Given the description of an element on the screen output the (x, y) to click on. 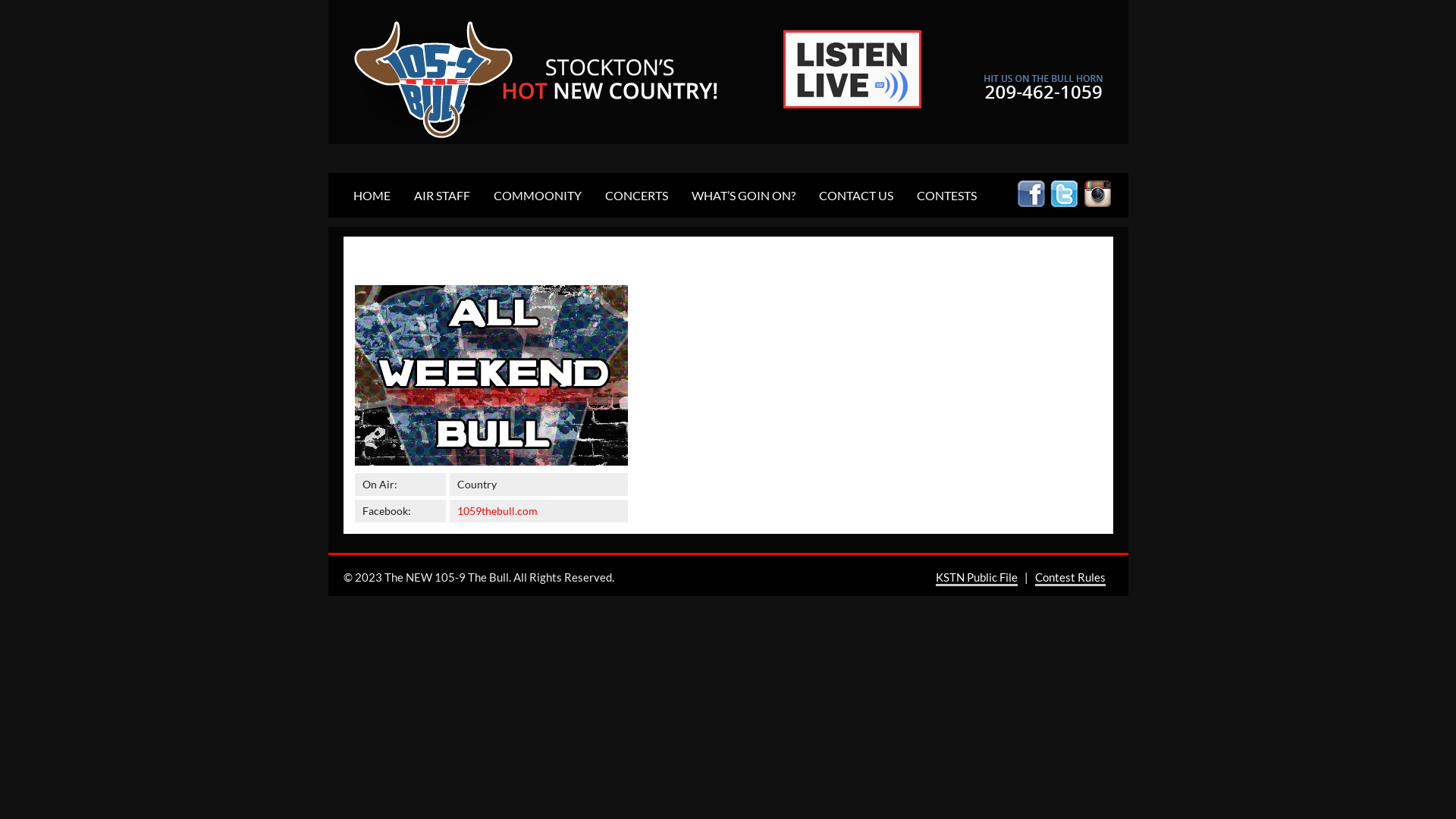
HOME Element type: text (370, 195)
AIR STAFF Element type: text (441, 195)
1059thebull.com Element type: text (496, 510)
Contest Rules Element type: text (1069, 578)
CONTACT US Element type: text (855, 195)
CONTESTS Element type: text (946, 195)
COMMOONITY Element type: text (537, 195)
CONCERTS Element type: text (635, 195)
KSTN Public File Element type: text (976, 578)
